Given the description of an element on the screen output the (x, y) to click on. 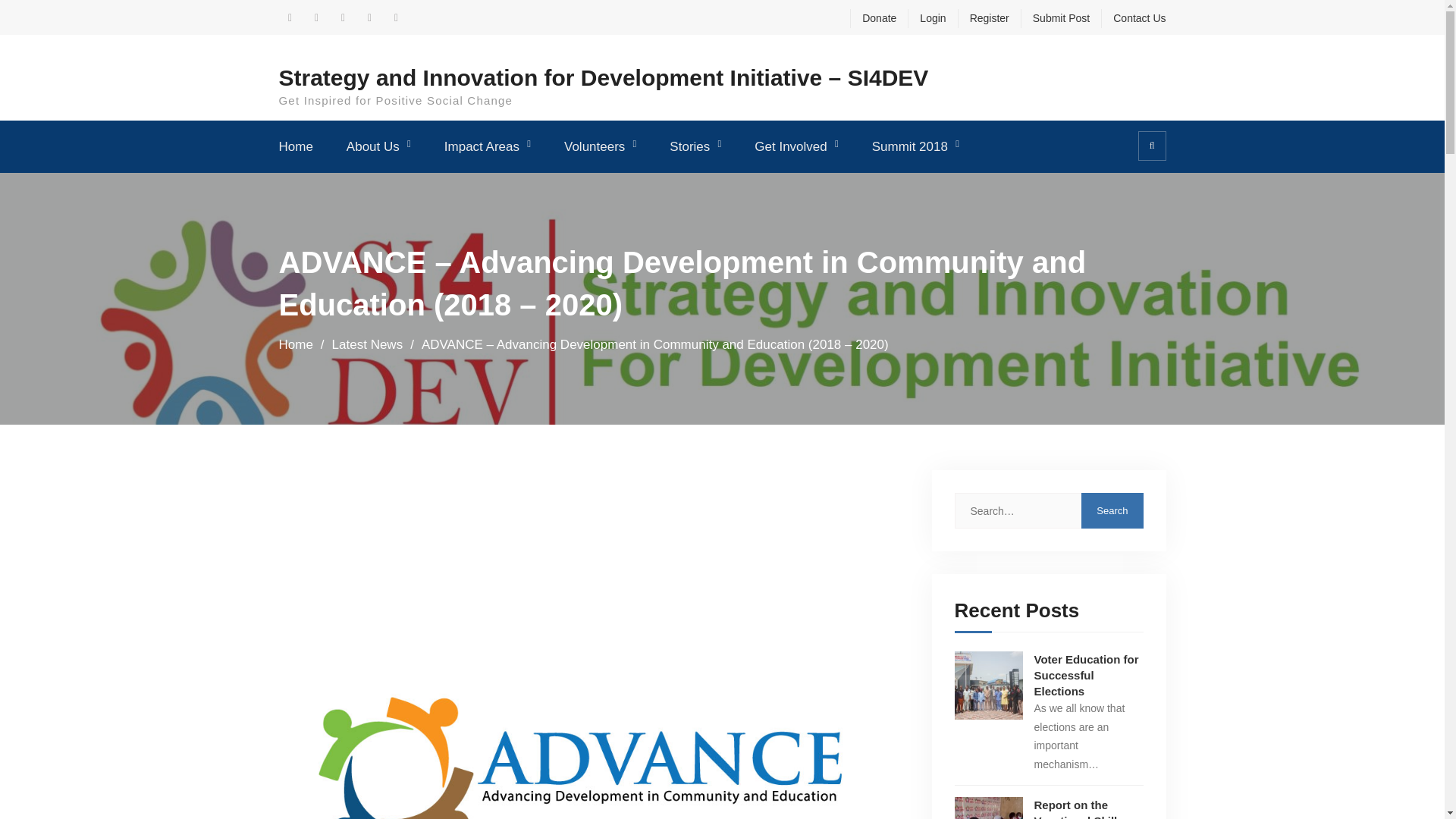
Search for: (1047, 510)
Donate (873, 18)
Search (1111, 510)
Search (1111, 510)
